Given the description of an element on the screen output the (x, y) to click on. 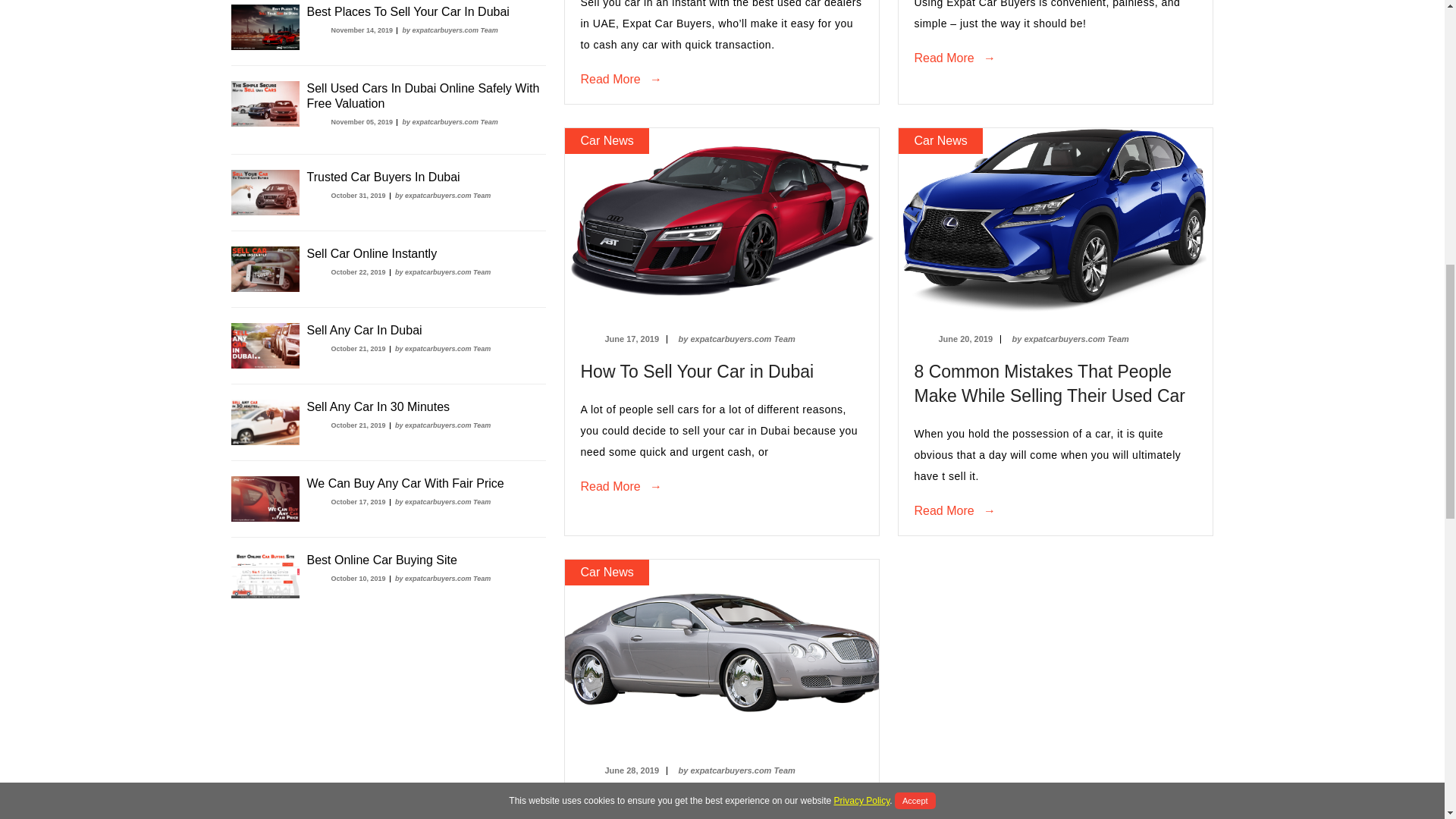
Best Places To Sell Your Car In Dubai (406, 11)
9 distractions to avoid when driving in the UAE (696, 371)
9 distractions to avoid when driving in the UAE (681, 806)
9 distractions to avoid when driving in the UAE (1049, 383)
